Given the description of an element on the screen output the (x, y) to click on. 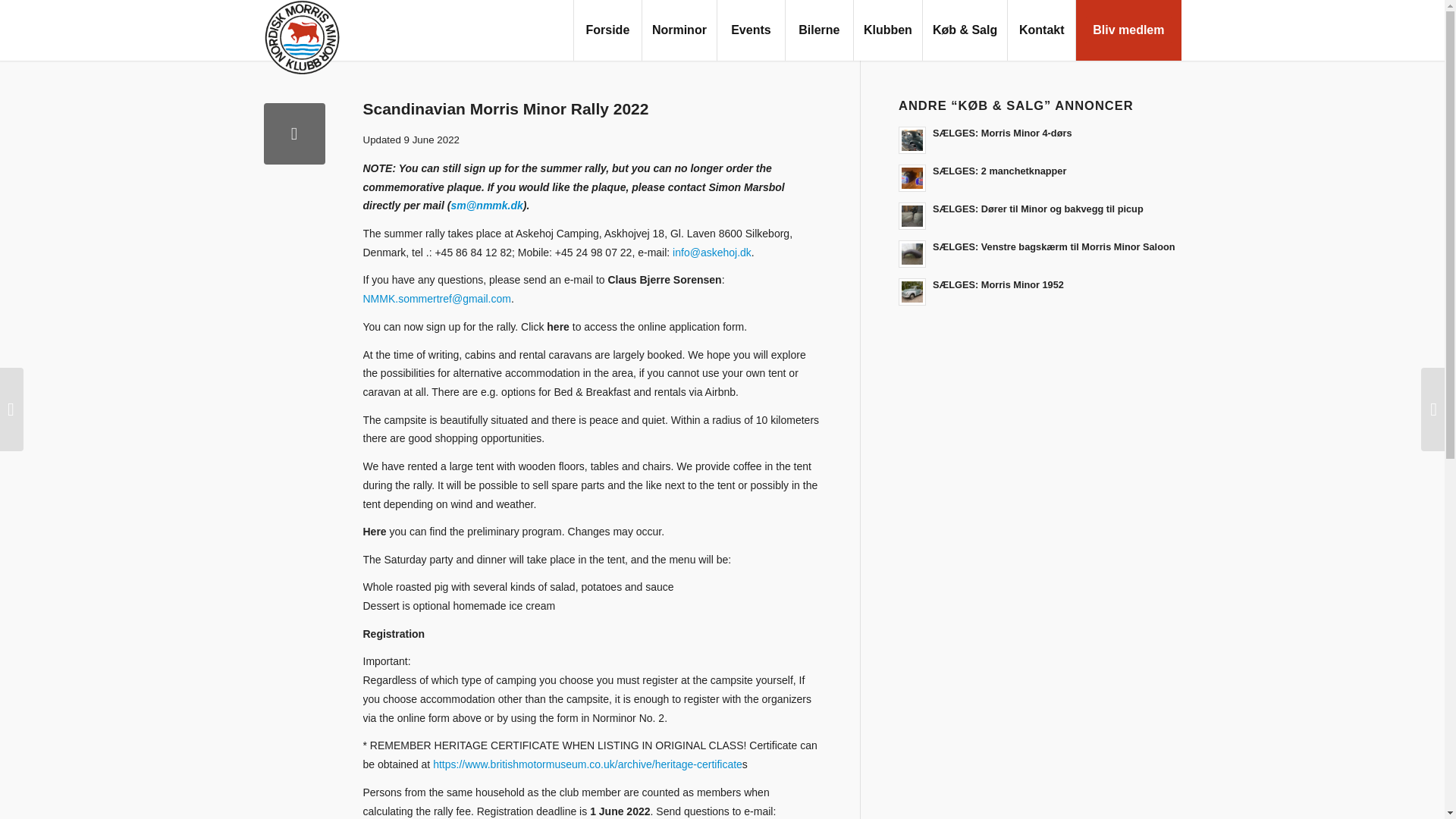
Scandinavian Morris Minor Rally 2022 (293, 133)
Bliv medlem (1127, 30)
Bilerne (818, 30)
Klubben (887, 30)
Forside (607, 30)
here (558, 326)
Here (373, 531)
Events (750, 30)
Kontakt (1041, 30)
Norminor (679, 30)
